Given the description of an element on the screen output the (x, y) to click on. 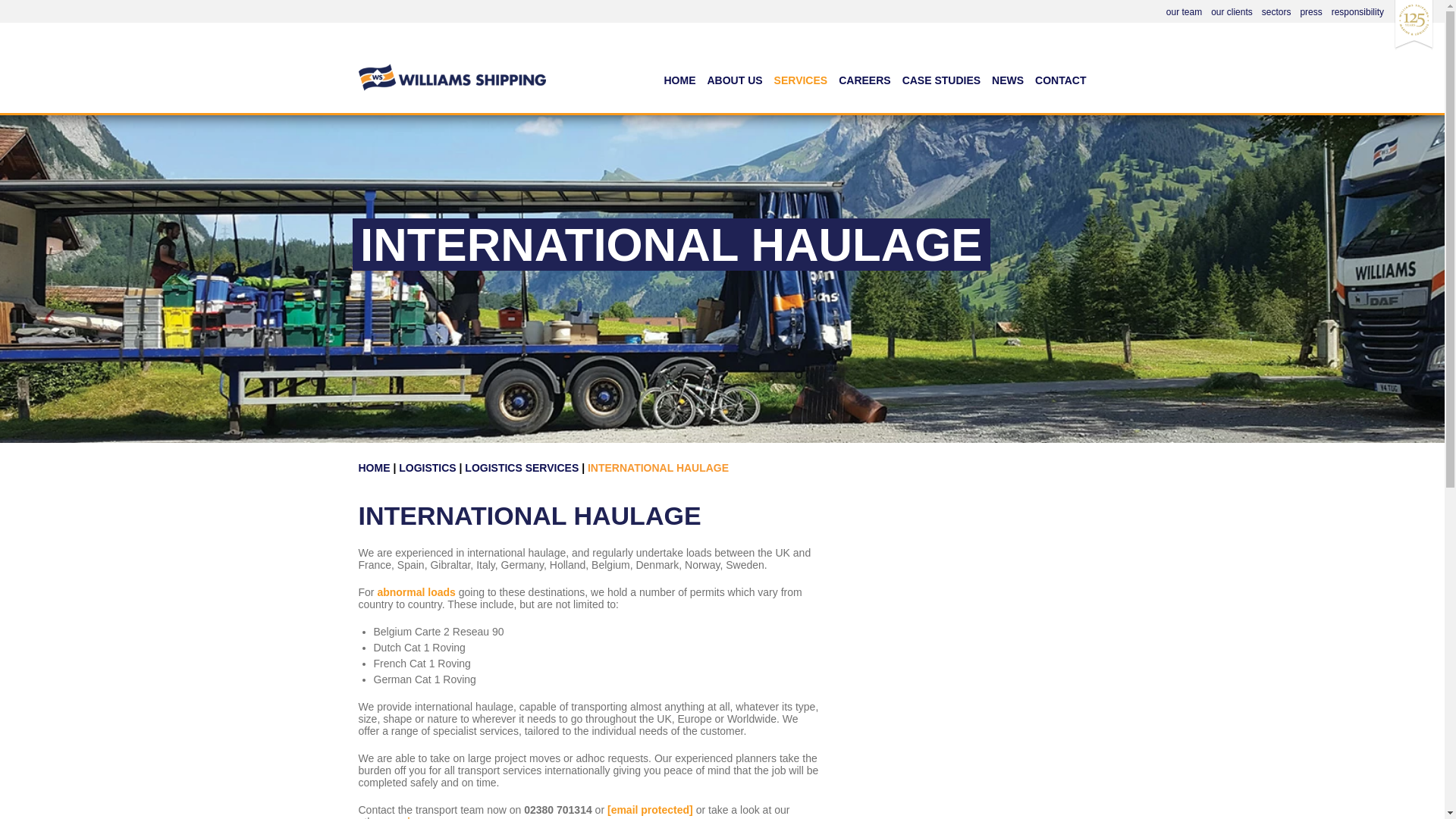
SERVICES (800, 85)
Responsibility (1358, 11)
ABOUT US (734, 85)
press (1311, 11)
HOME (679, 85)
Williams Shipping  (451, 59)
our team (1184, 11)
sectors (1276, 11)
our clients (1231, 11)
responsibility (1358, 11)
